Given the description of an element on the screen output the (x, y) to click on. 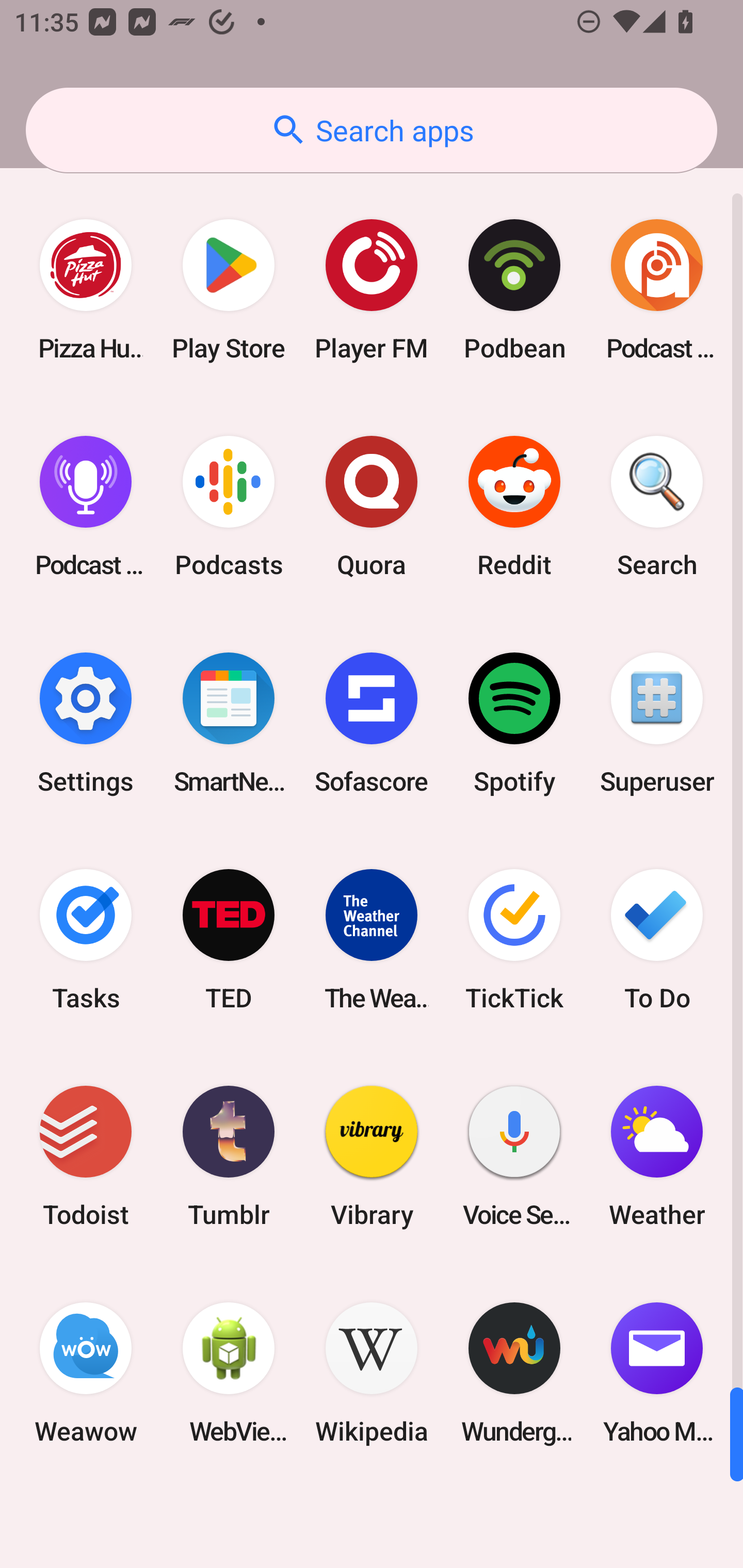
  Search apps (371, 130)
Pizza Hut HK & Macau (85, 289)
Play Store (228, 289)
Player FM (371, 289)
Podbean (514, 289)
Podcast Addict (656, 289)
Podcast Player (85, 506)
Podcasts (228, 506)
Quora (371, 506)
Reddit (514, 506)
Search (656, 506)
Settings (85, 722)
SmartNews (228, 722)
Sofascore (371, 722)
Spotify (514, 722)
Superuser (656, 722)
Tasks (85, 939)
TED (228, 939)
The Weather Channel (371, 939)
TickTick (514, 939)
To Do (656, 939)
Todoist (85, 1156)
Tumblr (228, 1156)
Vibrary (371, 1156)
Voice Search (514, 1156)
Weather (656, 1156)
Weawow (85, 1373)
WebView Browser Tester (228, 1373)
Wikipedia (371, 1373)
Wunderground (514, 1373)
Yahoo Mail (656, 1373)
